Given the description of an element on the screen output the (x, y) to click on. 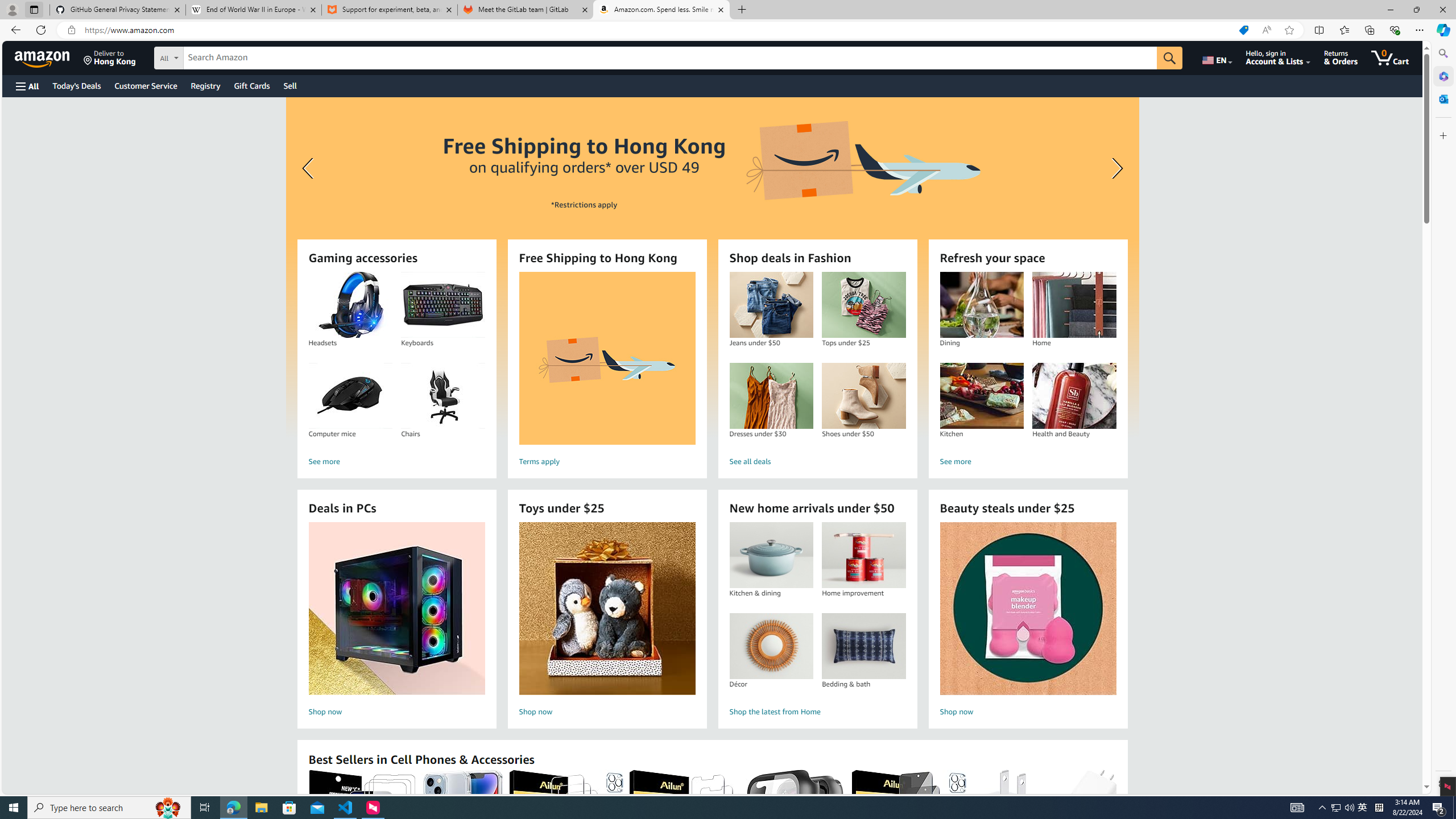
Skip to main content (48, 56)
Bedding & bath (863, 645)
Chairs (442, 395)
Side bar (1443, 418)
Amazon (43, 57)
Chairs (443, 395)
Open Menu (26, 86)
